Given the description of an element on the screen output the (x, y) to click on. 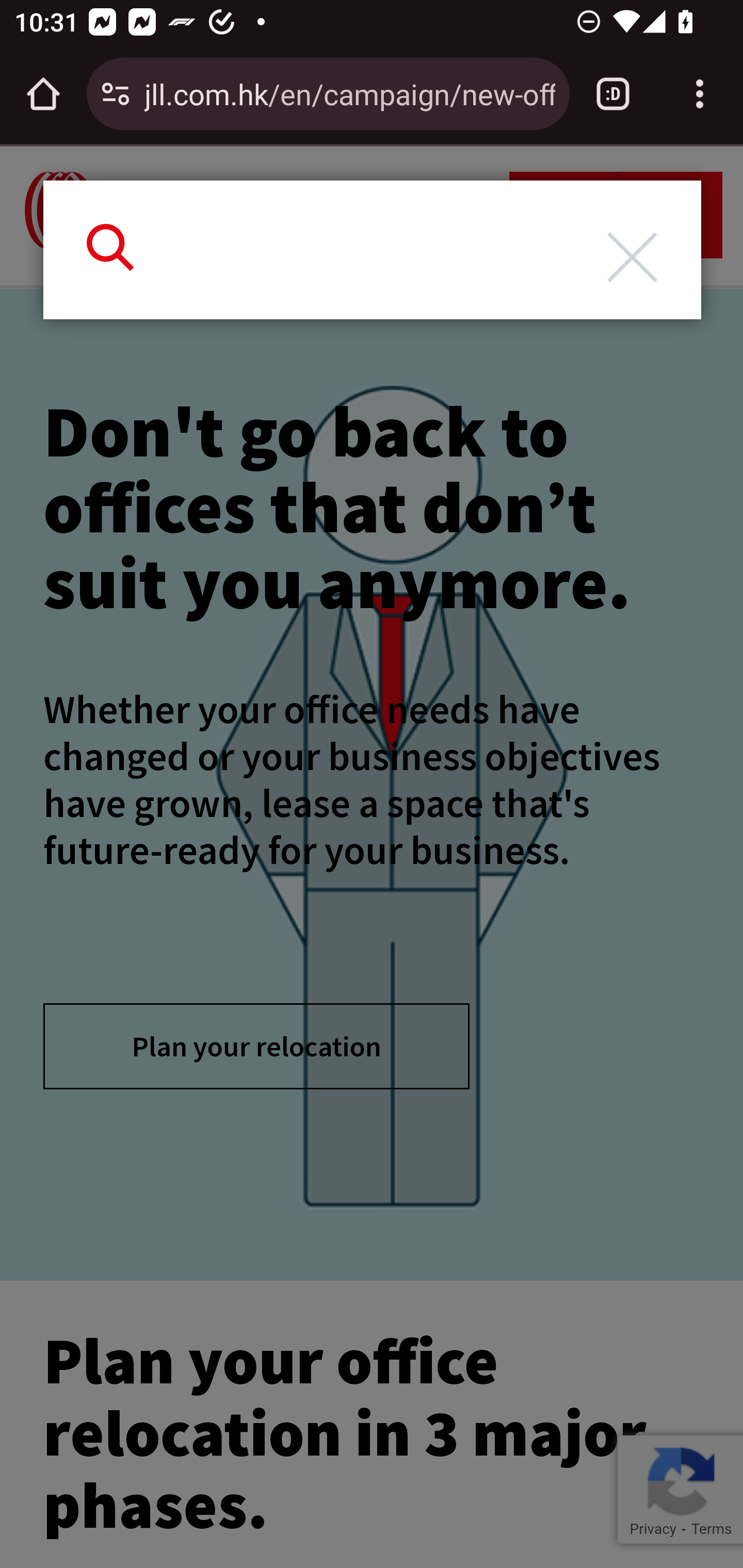
Open the home page (43, 93)
Connection is secure (115, 93)
Switch or close tabs (612, 93)
Customize and control Google Chrome (699, 93)
